Given the description of an element on the screen output the (x, y) to click on. 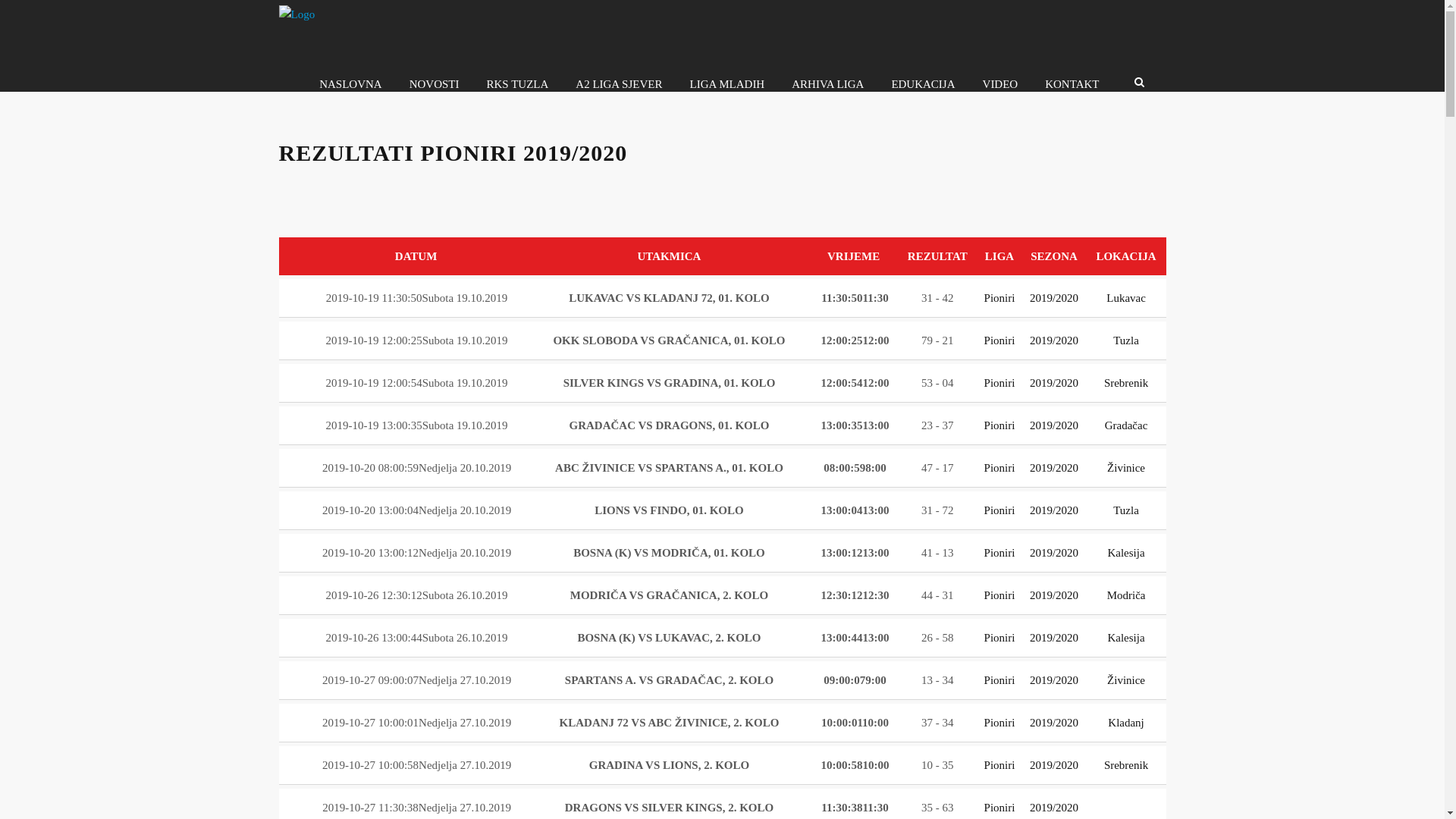
53 - 04 Element type: text (937, 382)
Home Element type: hover (297, 14)
 12:00:5412:00 Element type: text (853, 382)
2019-10-20 08:00:59Nedjelja 20.10.2019 Element type: text (416, 467)
 11:30:3811:30 Element type: text (853, 807)
2019-10-19 13:00:35Subota 19.10.2019 Element type: text (417, 425)
2019-10-26 12:30:12Subota 26.10.2019 Element type: text (417, 595)
 13:00:3513:00 Element type: text (853, 425)
2019-10-19 11:30:50Subota 19.10.2019 Element type: text (416, 297)
37 - 34 Element type: text (937, 722)
41 - 13 Element type: text (937, 552)
2019-10-27 09:00:07Nedjelja 27.10.2019 Element type: text (416, 680)
31 - 42 Element type: text (937, 297)
NOVOSTI Element type: text (434, 83)
79 - 21 Element type: text (937, 340)
RKS TUZLA Element type: text (516, 83)
2019-10-27 10:00:58Nedjelja 27.10.2019 Element type: text (416, 765)
LUKAVAC VS KLADANJ 72, 01. KOLO Element type: text (668, 297)
2019-10-26 13:00:44Subota 26.10.2019 Element type: text (417, 637)
2019-10-20 13:00:04Nedjelja 20.10.2019 Element type: text (416, 510)
13 - 34 Element type: text (937, 680)
 13:00:4413:00 Element type: text (853, 637)
Futura Multimedia d.o.o. Tuzla Element type: text (1106, 787)
2019-10-27 11:30:38Nedjelja 27.10.2019 Element type: text (416, 807)
44 - 31 Element type: text (937, 595)
 12:00:2512:00 Element type: text (853, 340)
2019-10-27 10:00:01Nedjelja 27.10.2019 Element type: text (416, 722)
2019-10-20 13:00:12Nedjelja 20.10.2019 Element type: text (416, 552)
DRAGONS VS SILVER KINGS, 2. KOLO Element type: text (669, 807)
2019-10-19 12:00:25Subota 19.10.2019 Element type: text (417, 340)
LIGA MLADIH Element type: text (726, 83)
 10:00:0110:00 Element type: text (853, 722)
KONTAKT Element type: text (1071, 83)
 09:00:079:00 Element type: text (852, 680)
ARHIVA LIGA Element type: text (827, 83)
A2 LIGA SJEVER Element type: text (618, 83)
LIONS VS FINDO, 01. KOLO Element type: text (668, 510)
10 - 35 Element type: text (937, 765)
2019-10-19 12:00:54Subota 19.10.2019 Element type: text (417, 382)
 13:00:1213:00 Element type: text (853, 552)
rks_tuzla@mail.com Element type: text (1005, 703)
31 - 72 Element type: text (937, 510)
VIDEO Element type: text (1000, 83)
 08:00:598:00 Element type: text (852, 467)
47 - 17 Element type: text (937, 467)
BOSNA (K) VS LUKAVAC, 2. KOLO Element type: text (668, 637)
GRADINA VS LIONS, 2. KOLO Element type: text (669, 765)
23 - 37 Element type: text (937, 425)
 10:00:5810:00 Element type: text (853, 765)
SILVER KINGS VS GRADINA, 01. KOLO Element type: text (669, 382)
35 - 63 Element type: text (937, 807)
NASLOVNA Element type: text (350, 83)
 11:30:5011:30 Element type: text (853, 297)
26 - 58 Element type: text (937, 637)
 13:00:0413:00 Element type: text (853, 510)
 12:30:1212:30 Element type: text (853, 595)
EDUKACIJA Element type: text (922, 83)
